Given the description of an element on the screen output the (x, y) to click on. 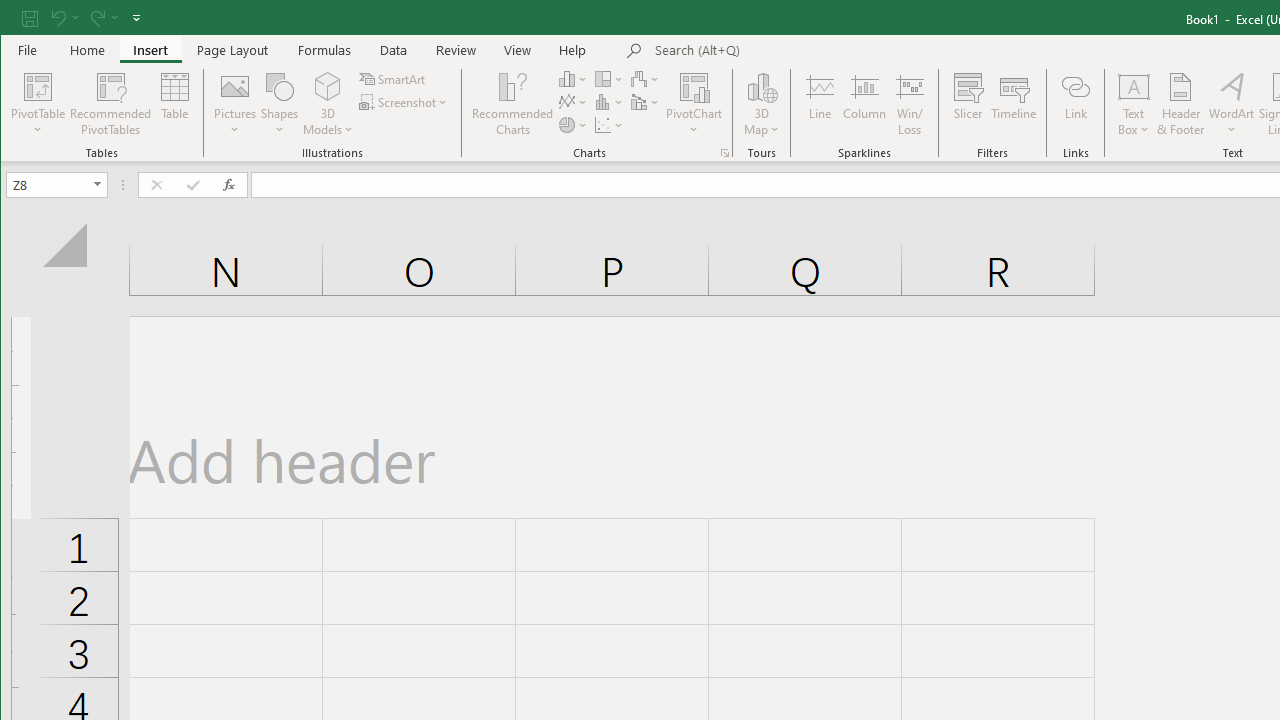
Timeline (1014, 104)
Insert Combo Chart (646, 101)
Screenshot (404, 101)
PivotChart (694, 104)
Recommended PivotTables (110, 104)
PivotChart (694, 86)
Insert Statistic Chart (609, 101)
PivotTable (37, 104)
Pictures (235, 104)
